Given the description of an element on the screen output the (x, y) to click on. 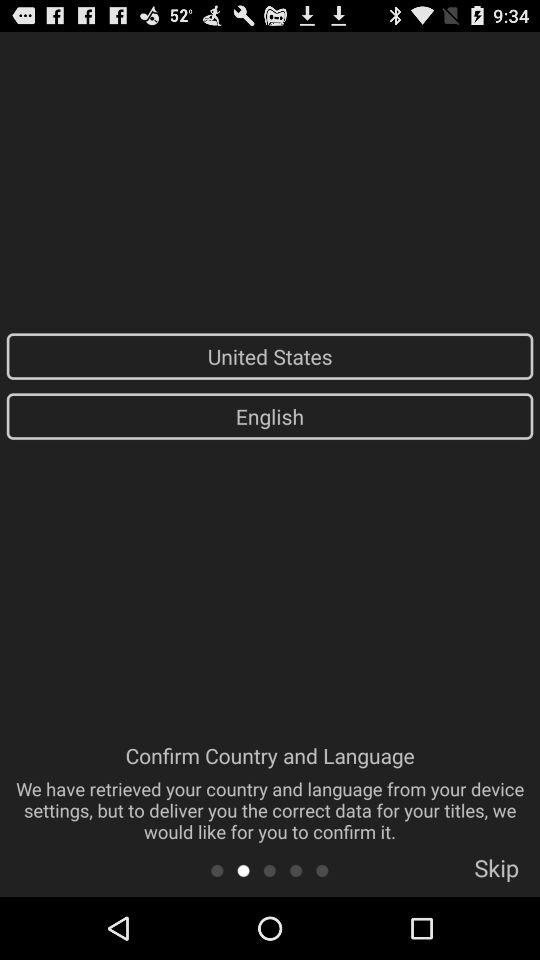
go to next page (243, 870)
